Given the description of an element on the screen output the (x, y) to click on. 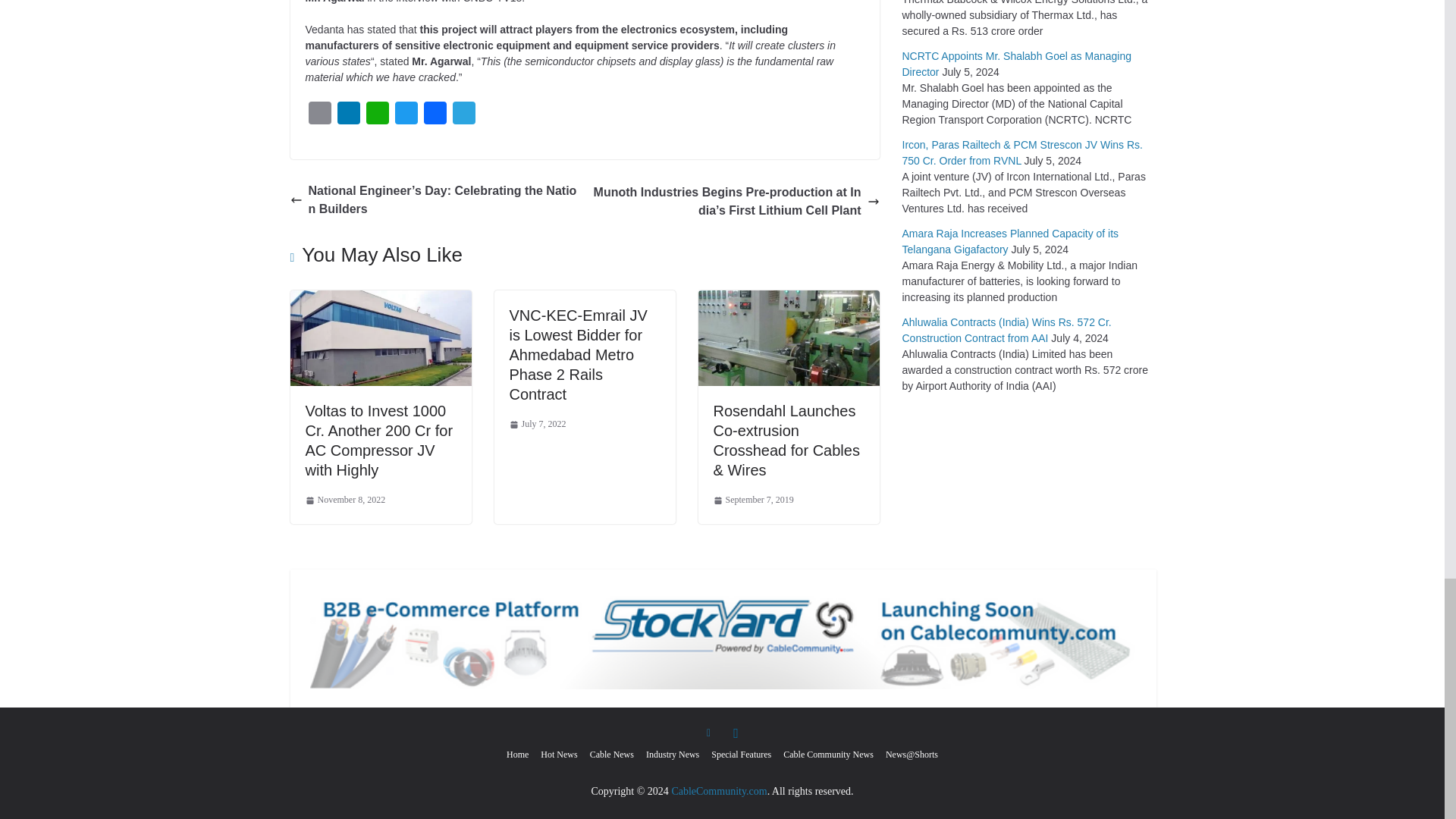
WhatsApp (376, 116)
LinkedIn (347, 116)
Copy Link (318, 116)
Twitter (405, 116)
